Given the description of an element on the screen output the (x, y) to click on. 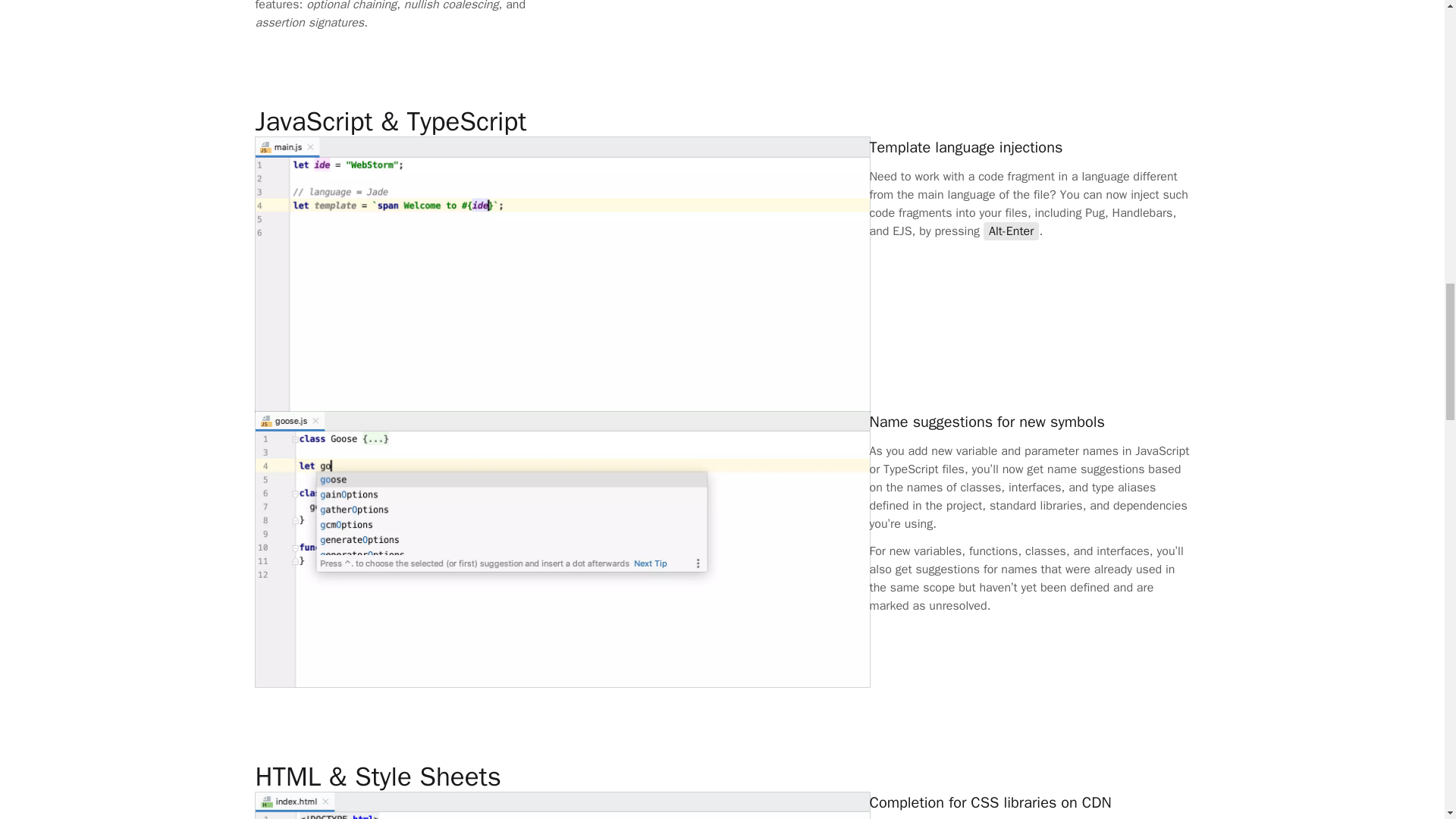
Template language injections (515, 121)
Completion for CSS libraries on CDN (515, 776)
